Given the description of an element on the screen output the (x, y) to click on. 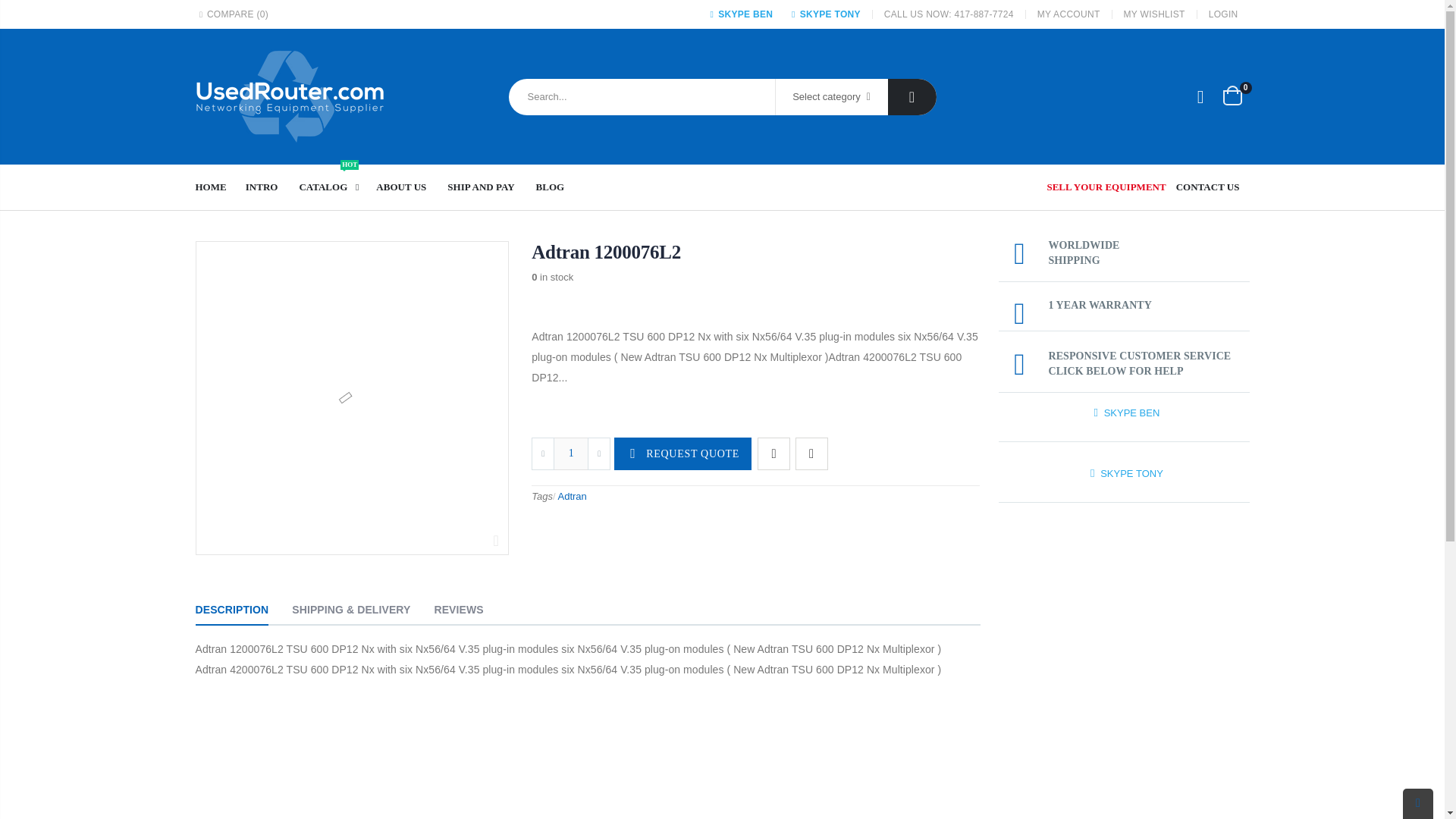
LOGIN (1223, 13)
MY WISHLIST (1154, 13)
1 (570, 452)
MY ACCOUNT (1068, 13)
Add to wishlist (773, 452)
Select category (830, 96)
Select category (831, 96)
Add to compare (332, 187)
Search (811, 452)
SKYPE BEN (911, 96)
HOME (738, 13)
SKYPE TONY (216, 187)
0 (823, 13)
INTRO (1231, 96)
